Given the description of an element on the screen output the (x, y) to click on. 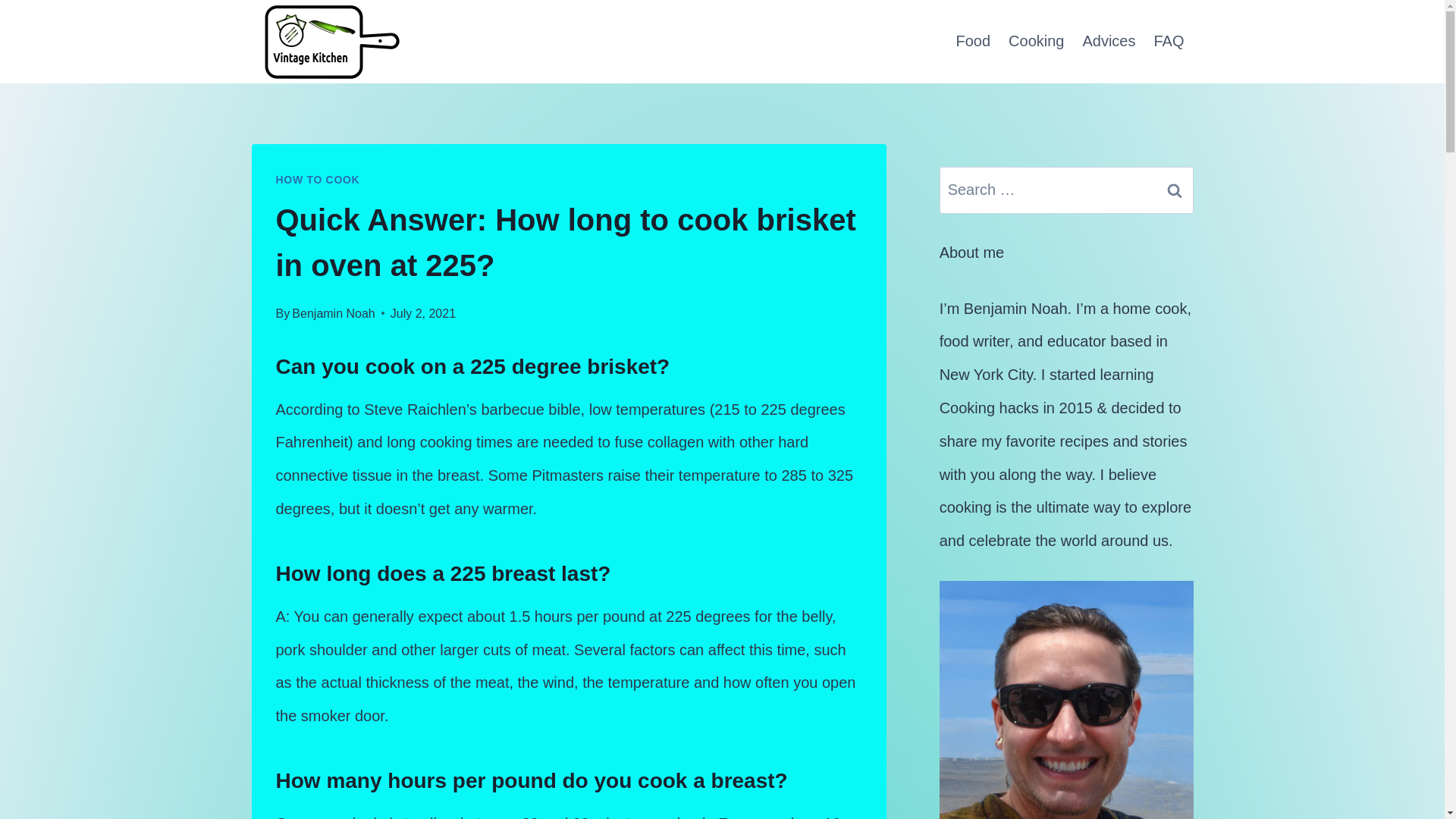
Food (972, 41)
Advices (1108, 41)
HOW TO COOK (317, 179)
FAQ (1168, 41)
Cooking (1035, 41)
Benjamin Noah (333, 313)
